Given the description of an element on the screen output the (x, y) to click on. 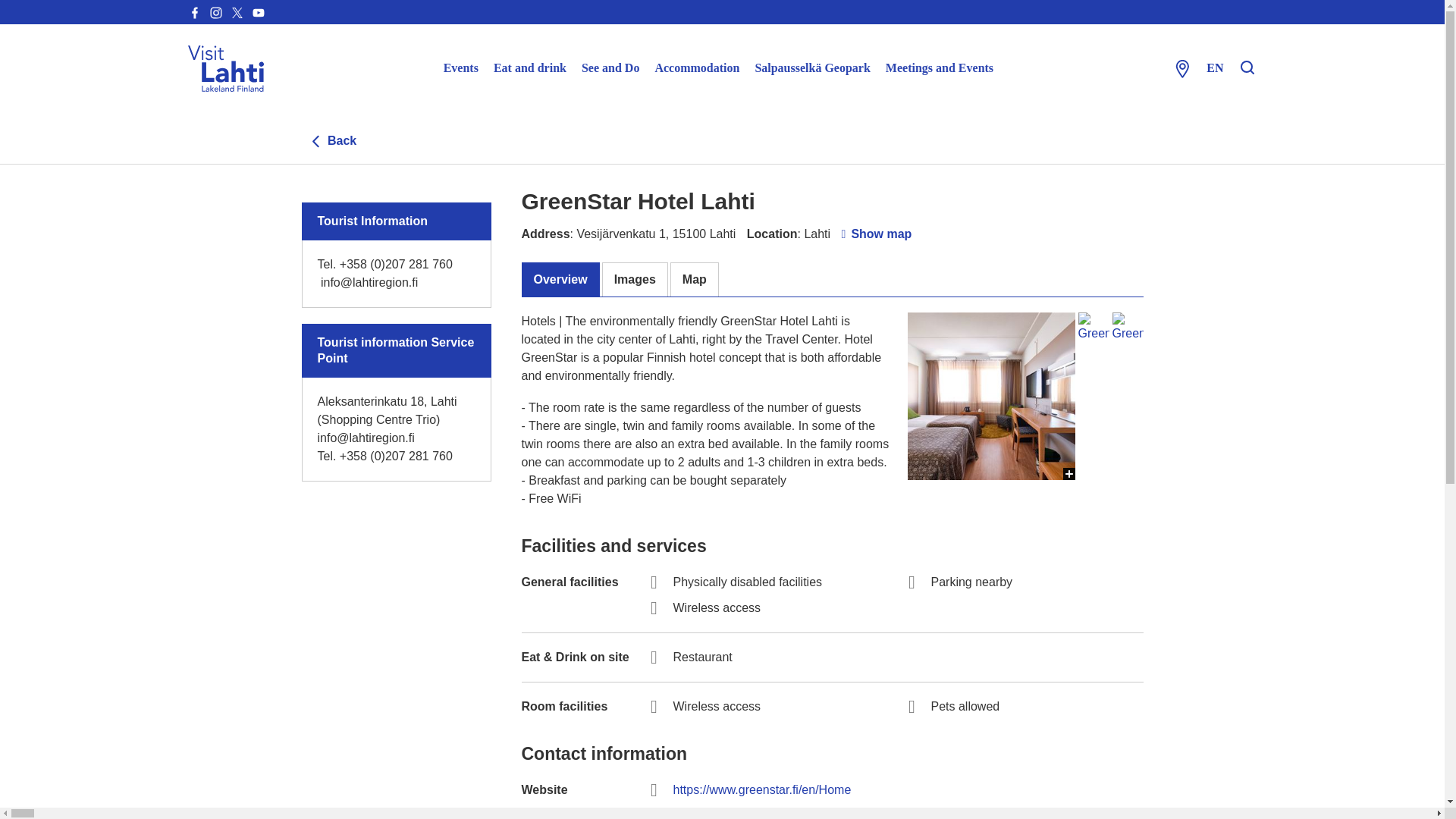
See and Do (609, 68)
GreenStar Hotel Lahti (990, 395)
EN (1215, 67)
GreenStar Hotel Lahti (1127, 327)
Events (461, 68)
Accommodation (696, 68)
GreenStar Hotel Lahti (990, 563)
Meetings and Events (938, 68)
GreenStar Hotel Lahti (1093, 327)
Eat and drink (529, 68)
